Given the description of an element on the screen output the (x, y) to click on. 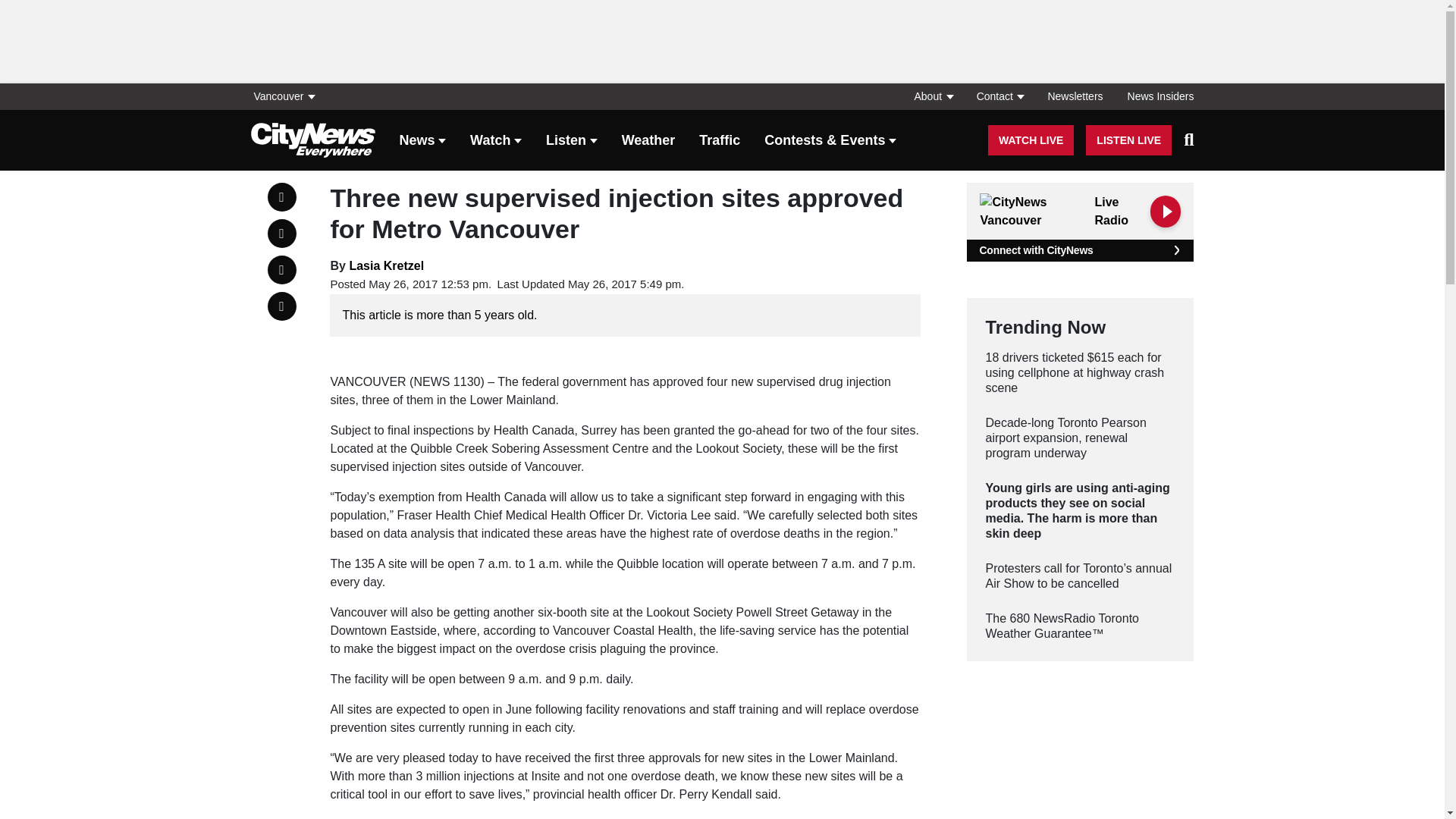
Listen (571, 140)
Newsletters (1075, 96)
Watch (495, 140)
About (932, 96)
Vancouver (287, 96)
Contact (999, 96)
News Insiders (1154, 96)
News (421, 140)
